Given the description of an element on the screen output the (x, y) to click on. 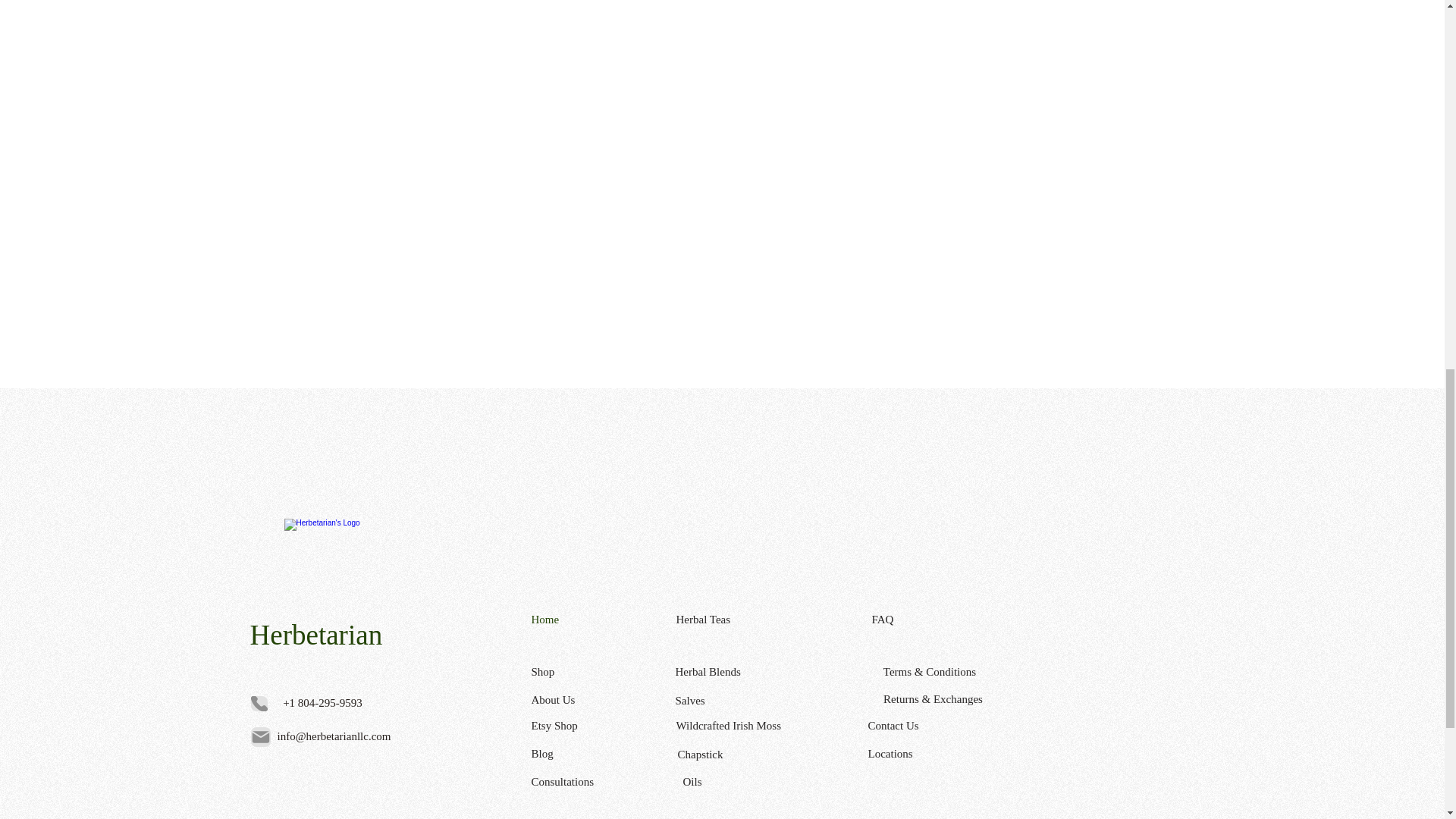
Herbal Teas (727, 619)
Blog (585, 753)
About Us (585, 700)
Home (585, 619)
Herbal Blends (726, 671)
Herbetarian Health and Wellness Shop (335, 569)
Shop (585, 671)
Consultations (585, 782)
Etsy Shop (585, 725)
